Given the description of an element on the screen output the (x, y) to click on. 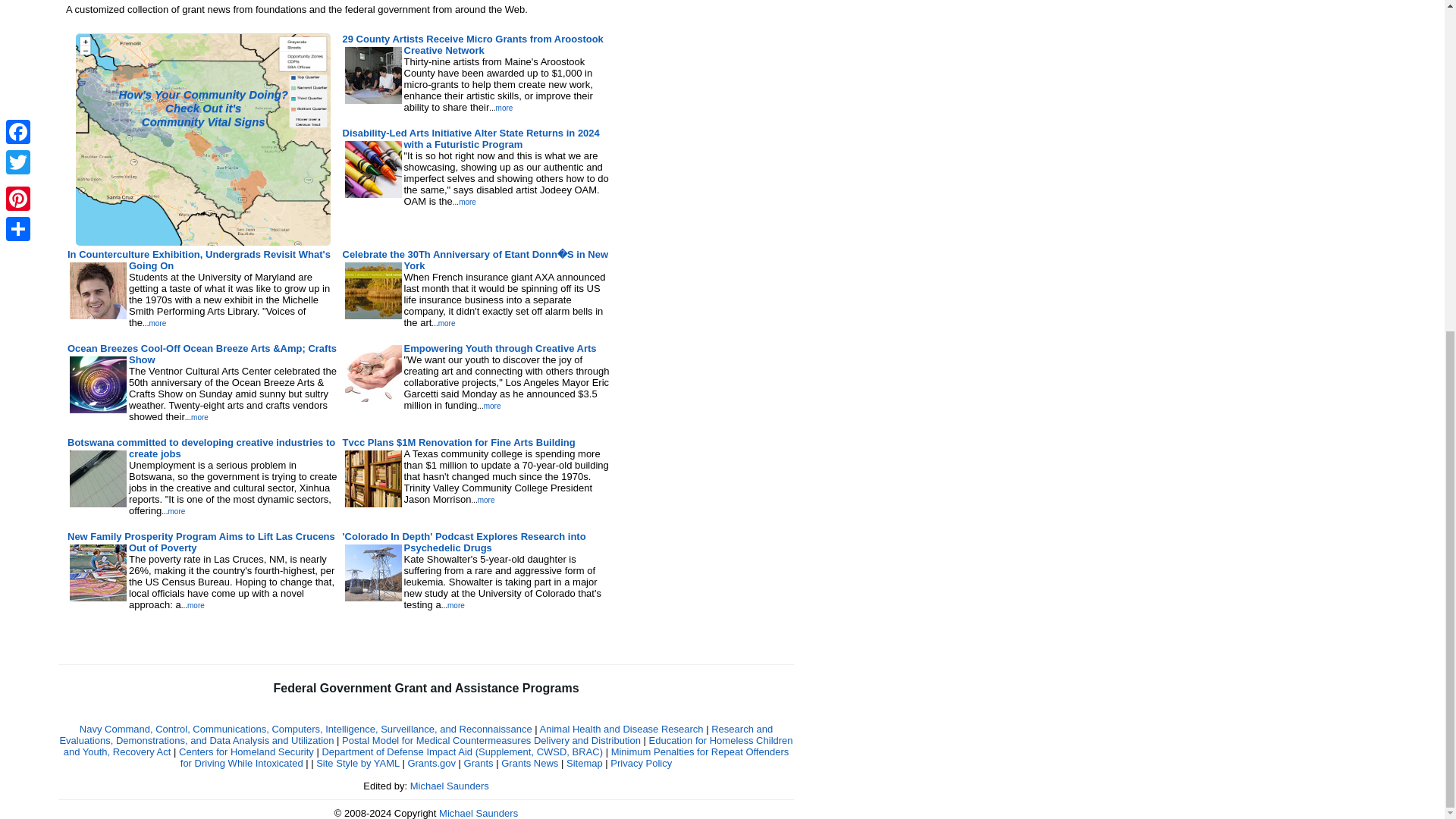
more (196, 605)
more (446, 323)
Empowering Youth through Creative Arts (499, 348)
Education for Homeless Children and Youth, Recovery Act (428, 745)
more (486, 500)
Animal Health and Disease Research (621, 728)
more (199, 417)
more (504, 108)
more (175, 510)
